Given the description of an element on the screen output the (x, y) to click on. 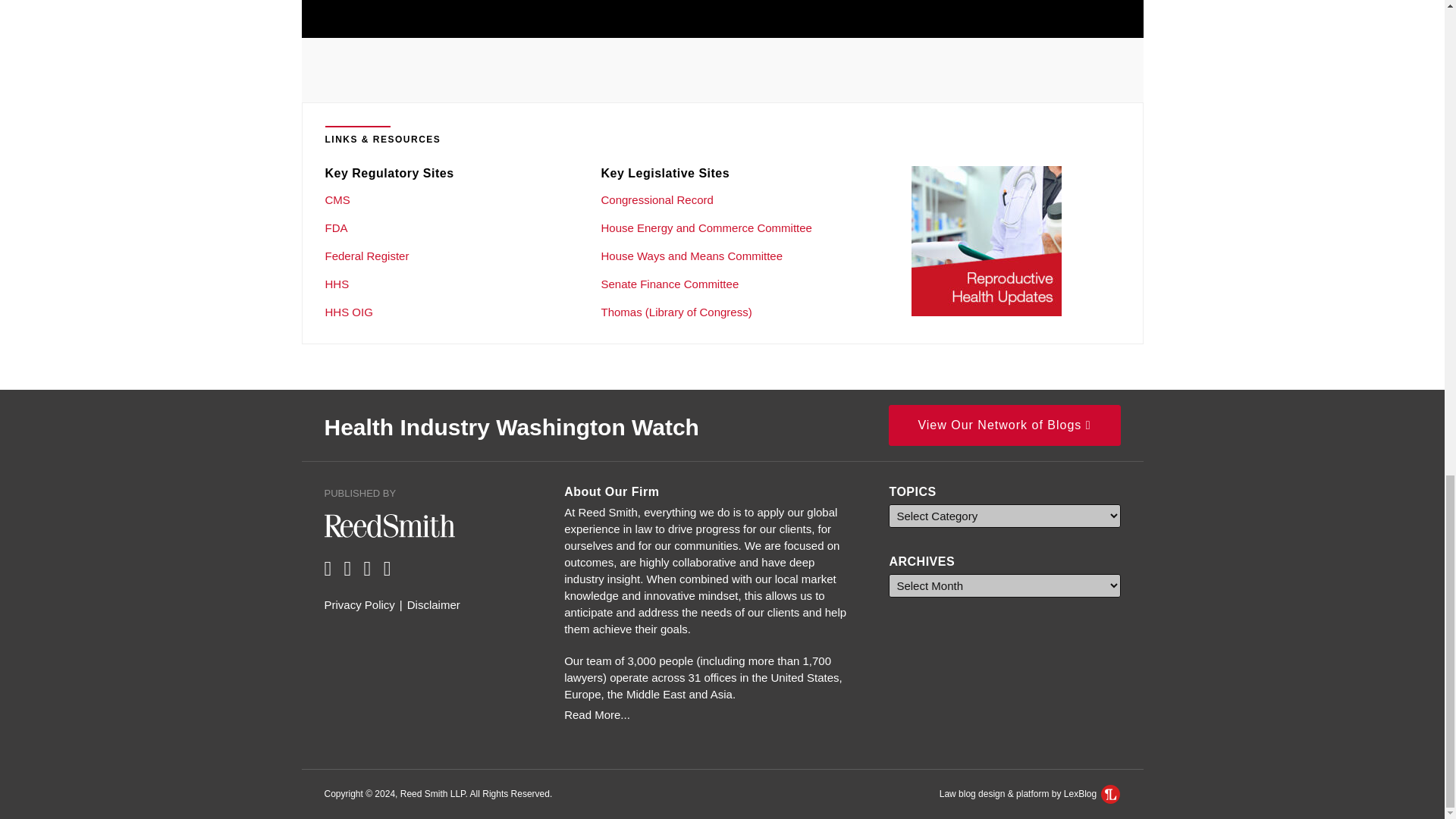
HHS (336, 283)
House Energy and Commerce Committee (704, 227)
LexBlog Logo (1109, 793)
FDA (335, 227)
CMS (336, 199)
HHS OIG (348, 311)
House Ways and Means Committee (691, 255)
Congressional Record (656, 199)
Federal Register (366, 255)
Senate Finance Committee (668, 283)
